Given the description of an element on the screen output the (x, y) to click on. 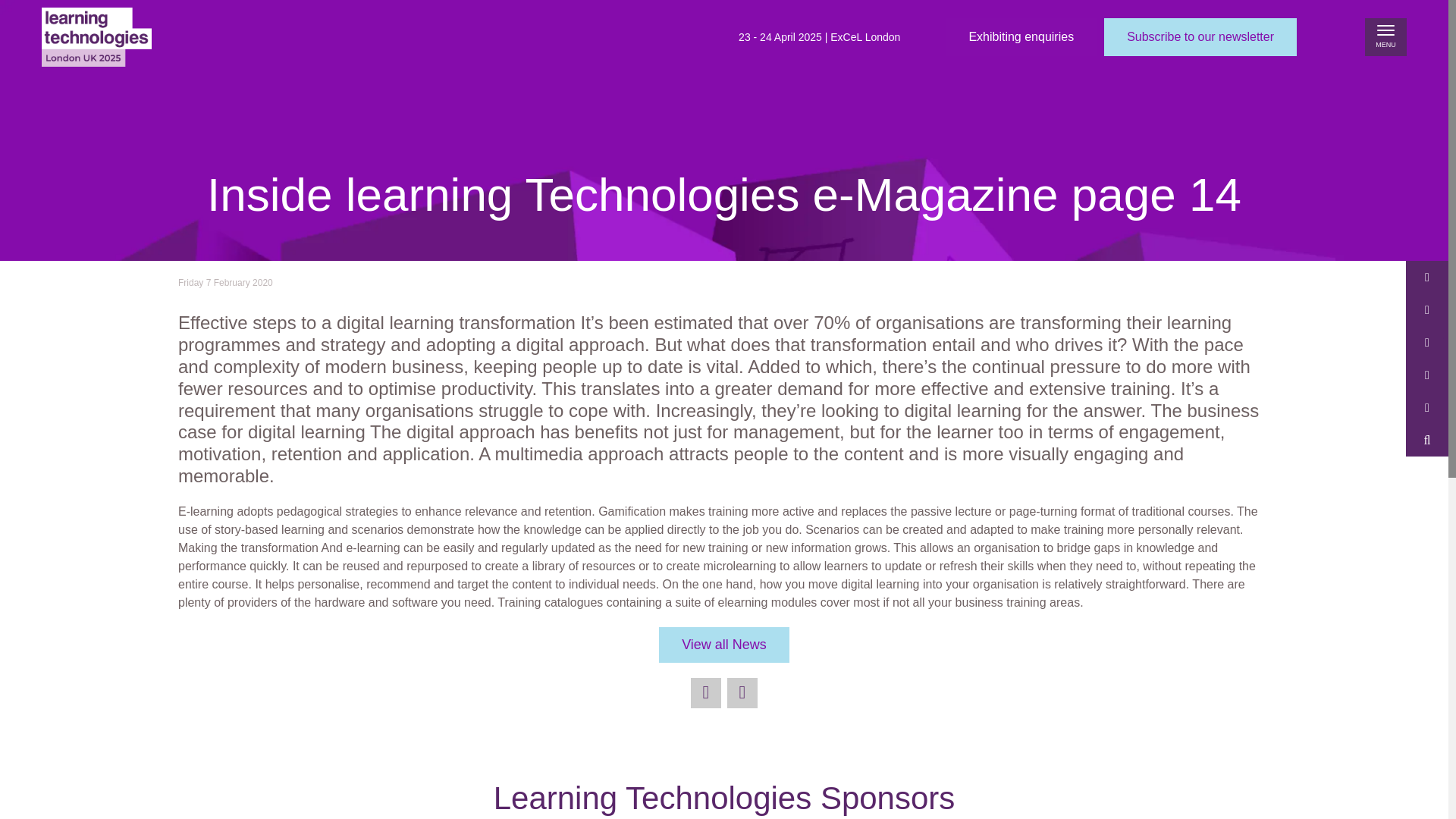
Exhibiting enquiries (1020, 37)
MENU (1385, 37)
Subscribe to our newsletter (1200, 37)
